Given the description of an element on the screen output the (x, y) to click on. 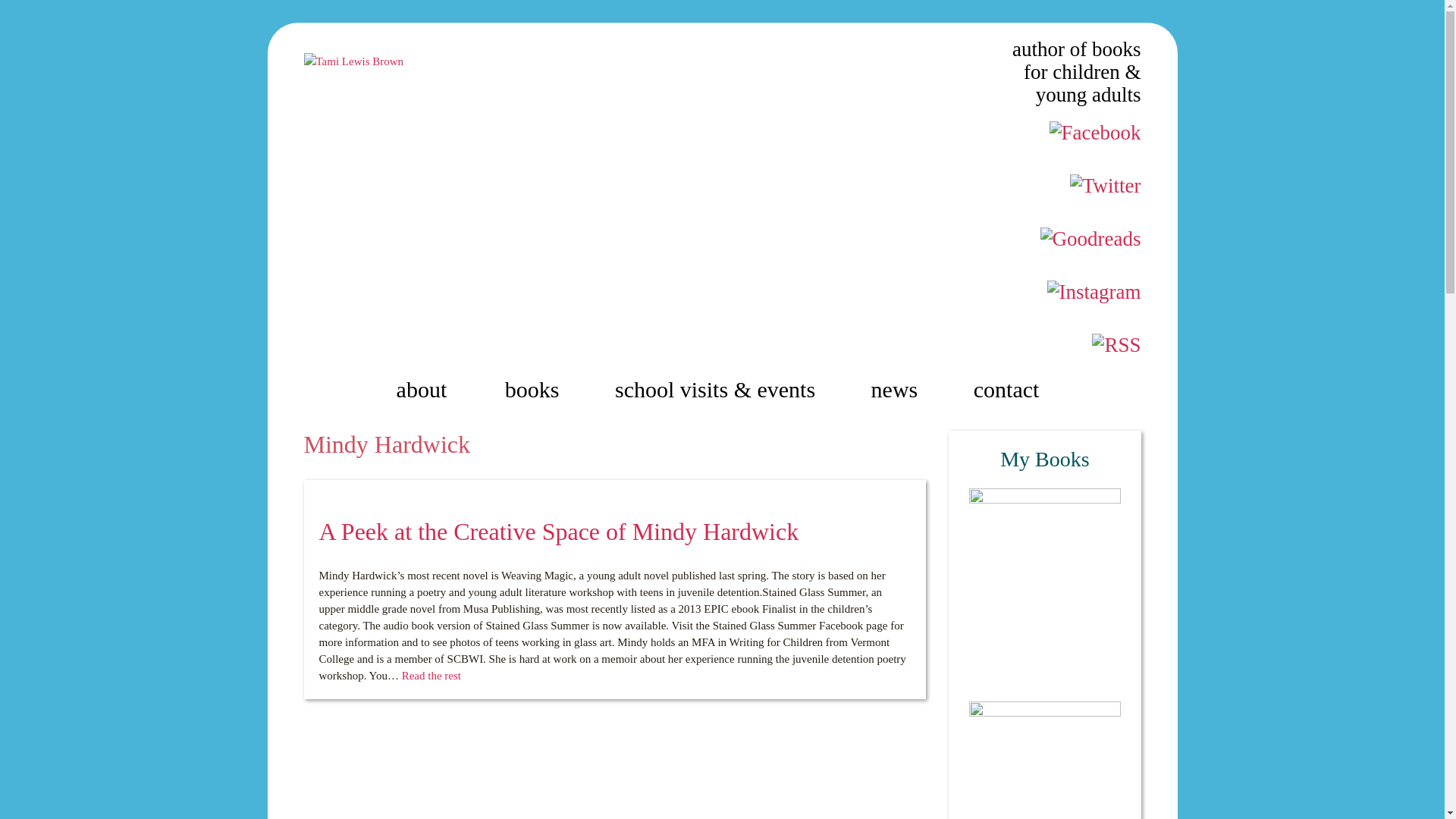
books (535, 389)
A Peek at the Creative Space of Mindy Hardwick (557, 531)
Read the rest (431, 675)
contact (1010, 389)
A Peek at the Creative Space of Mindy Hardwick (557, 531)
about (426, 389)
news (898, 389)
